Given the description of an element on the screen output the (x, y) to click on. 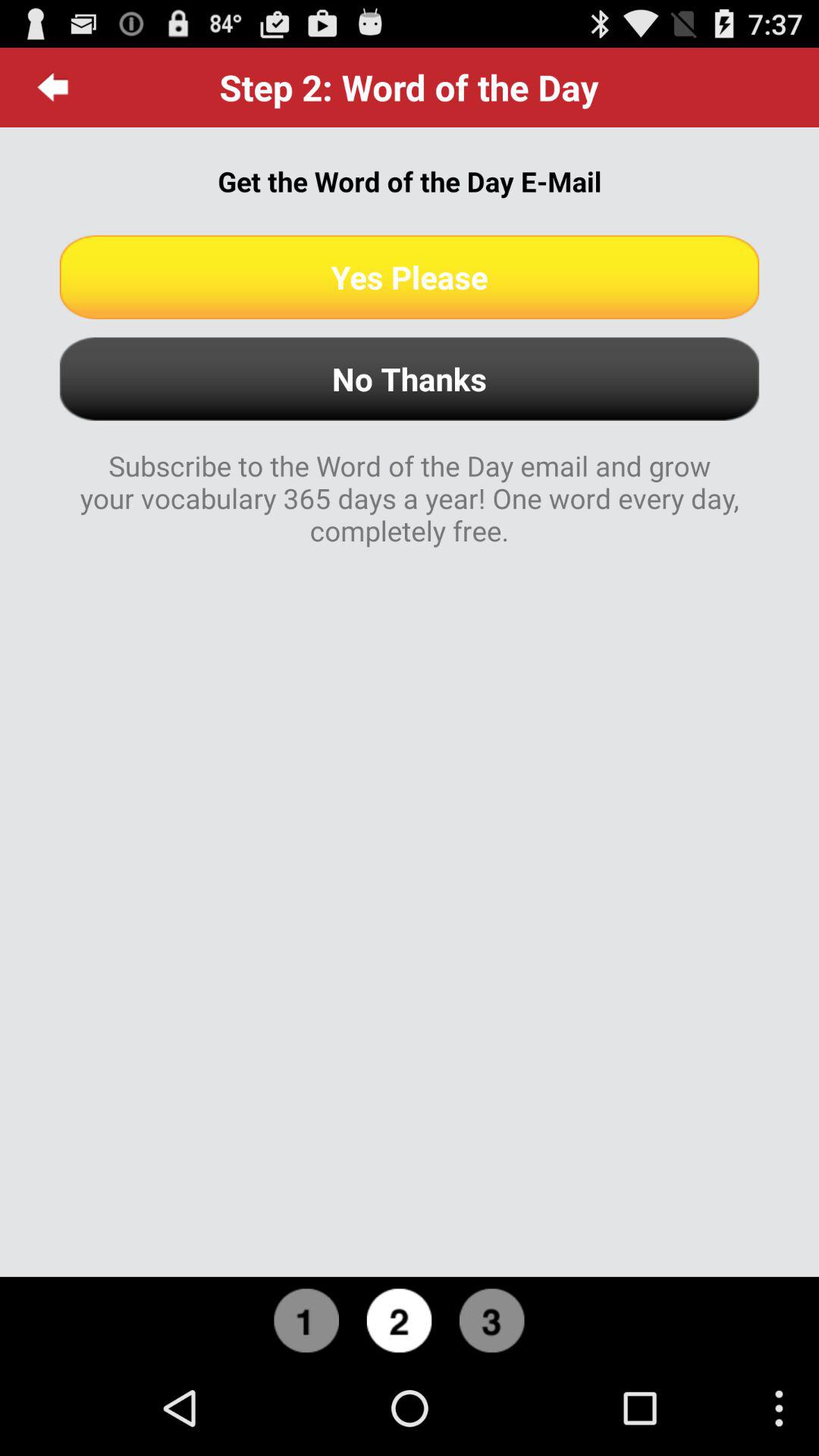
scroll to the yes please (409, 277)
